Given the description of an element on the screen output the (x, y) to click on. 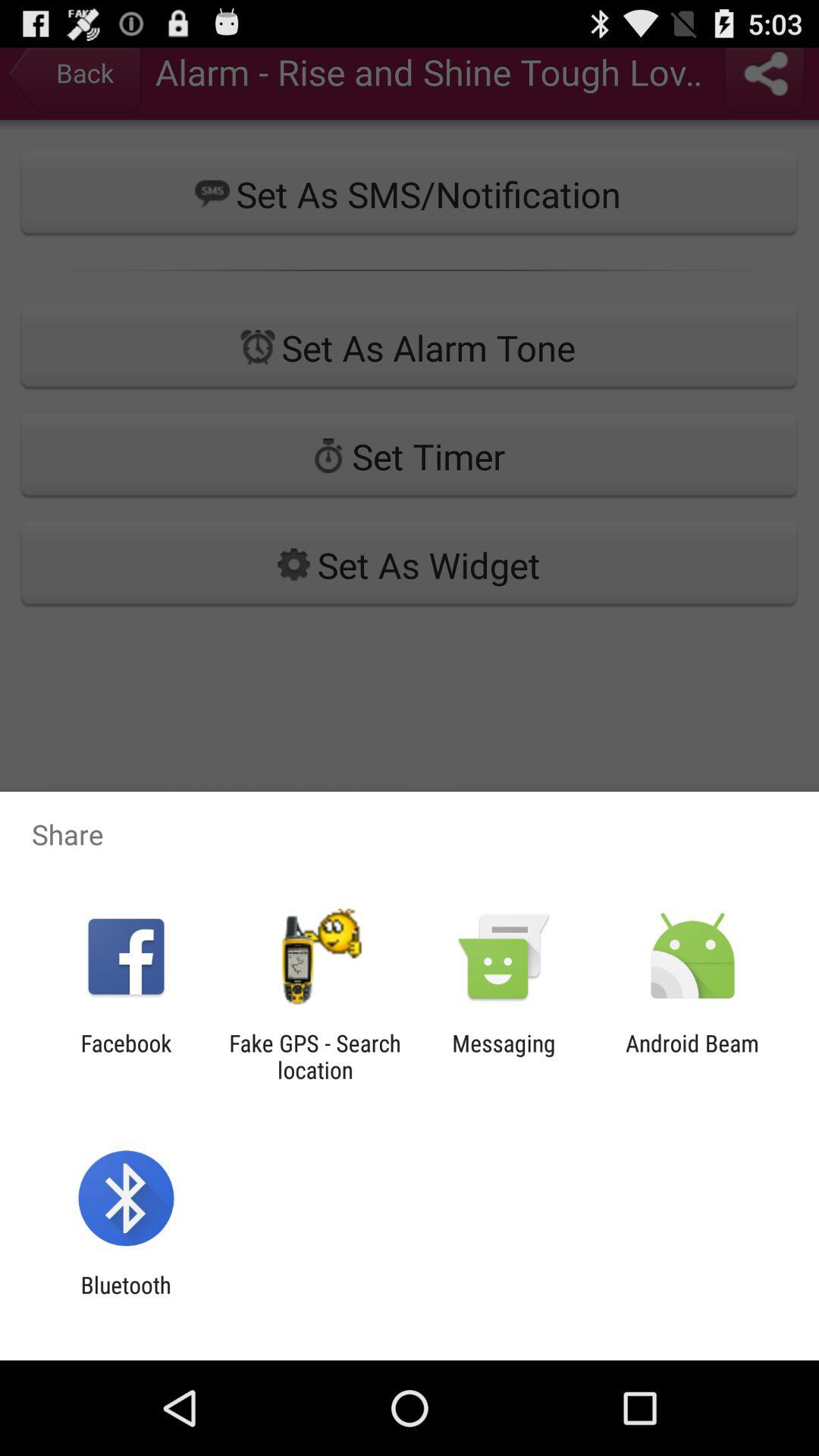
jump until fake gps search icon (314, 1056)
